Given the description of an element on the screen output the (x, y) to click on. 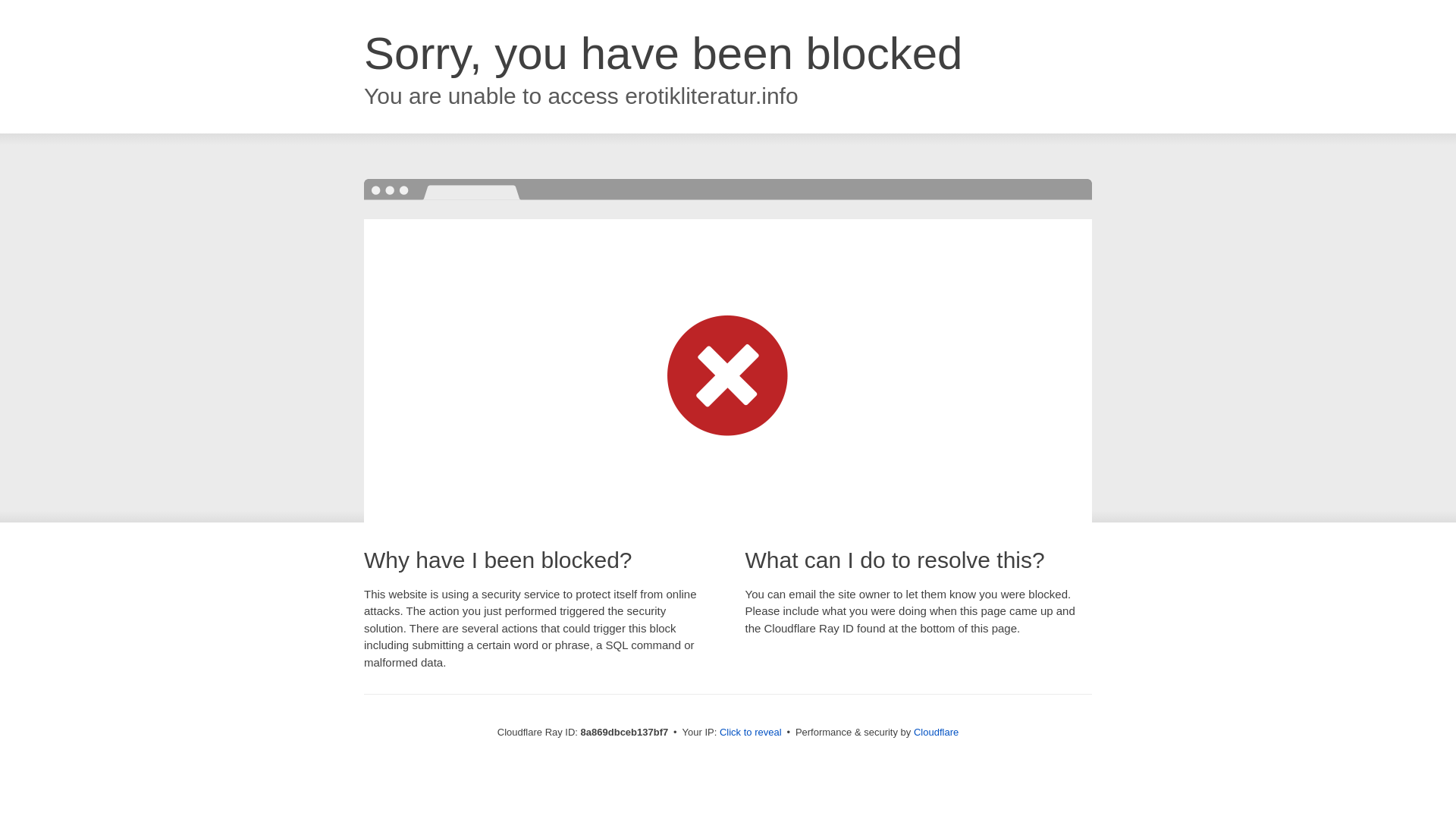
Cloudflare (936, 731)
Click to reveal (750, 732)
